Given the description of an element on the screen output the (x, y) to click on. 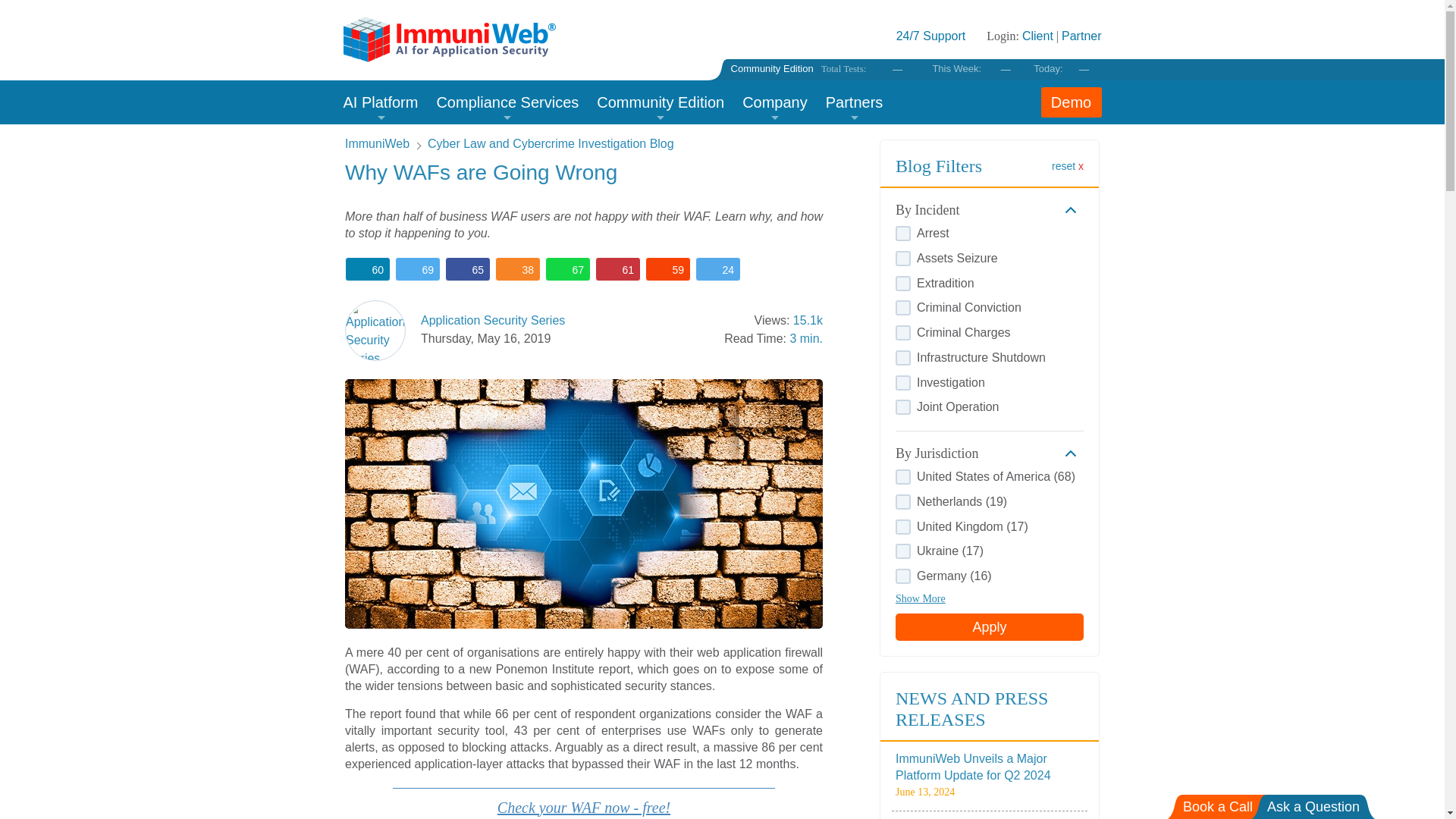
Community Edition (771, 68)
Community Edition (660, 103)
This Week: (956, 68)
Client (1037, 36)
Apply (989, 626)
Compliance Services (507, 103)
Partner (1080, 36)
Today: (1047, 68)
Why WAFs are Going Wrong (583, 503)
AI Platform (384, 103)
